Given the description of an element on the screen output the (x, y) to click on. 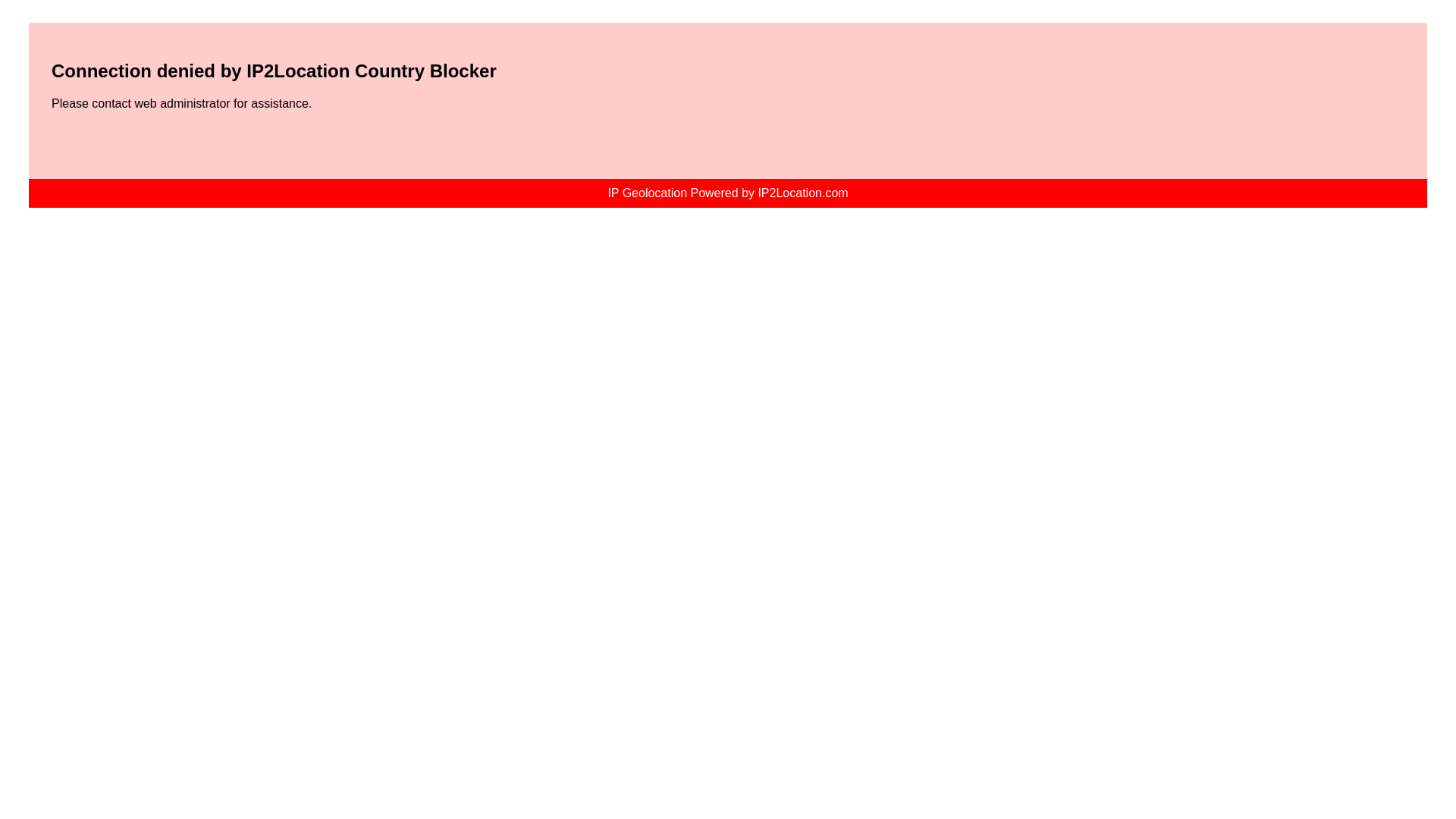
IP Geolocation Powered by IP2Location.com (727, 192)
